Given the description of an element on the screen output the (x, y) to click on. 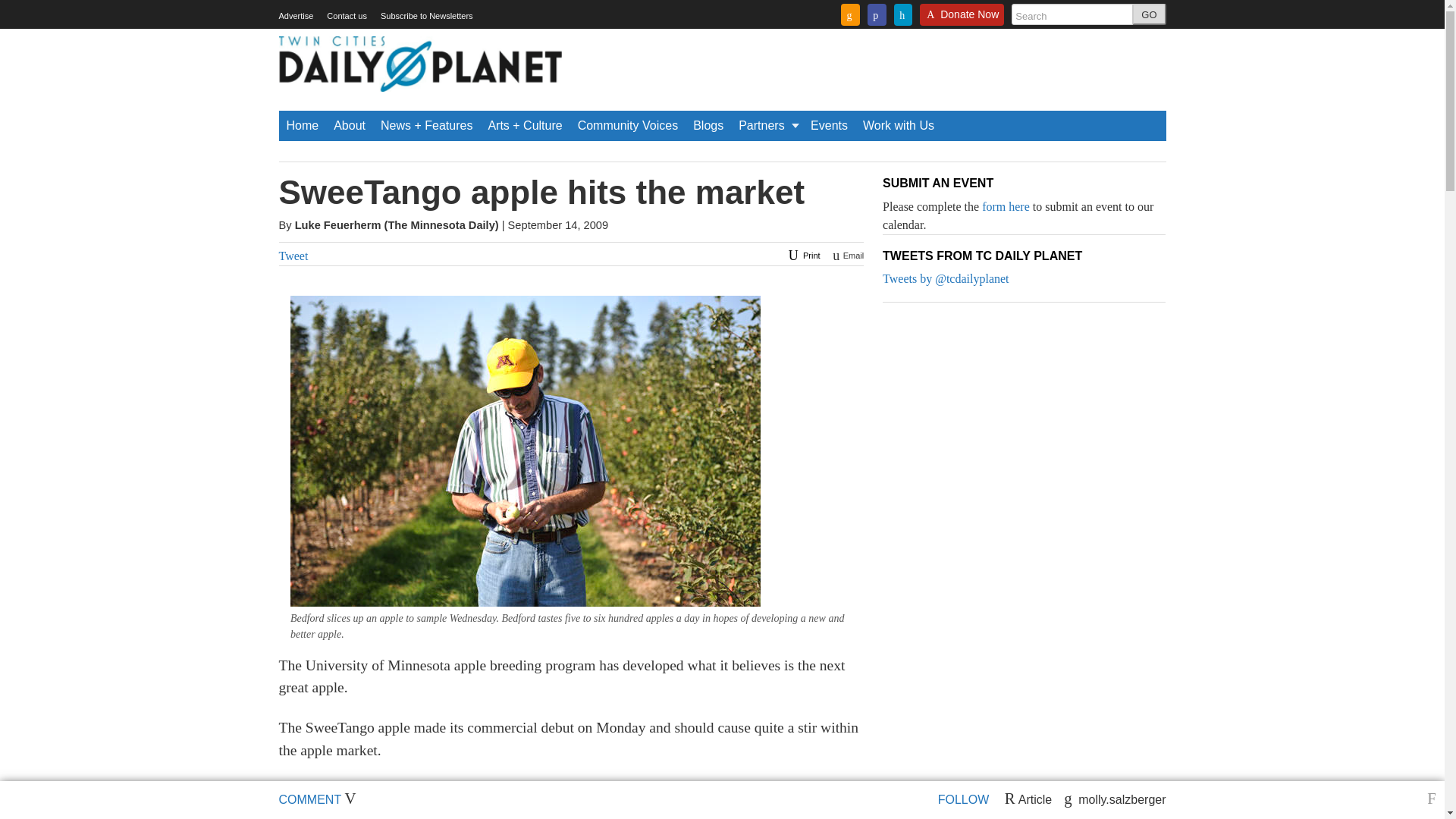
Contact us (346, 15)
Tweet (293, 255)
Advertise (296, 15)
Home (302, 125)
Blogs (707, 125)
The Minnesota Daily (441, 224)
Donate Now (962, 19)
Print (801, 255)
About (349, 125)
Subscribe to Newsletters (426, 15)
Link to RSS Feed (850, 14)
Link to Twitter Page (902, 14)
Partners (766, 125)
Community Voices (627, 125)
GO (1149, 14)
